Given the description of an element on the screen output the (x, y) to click on. 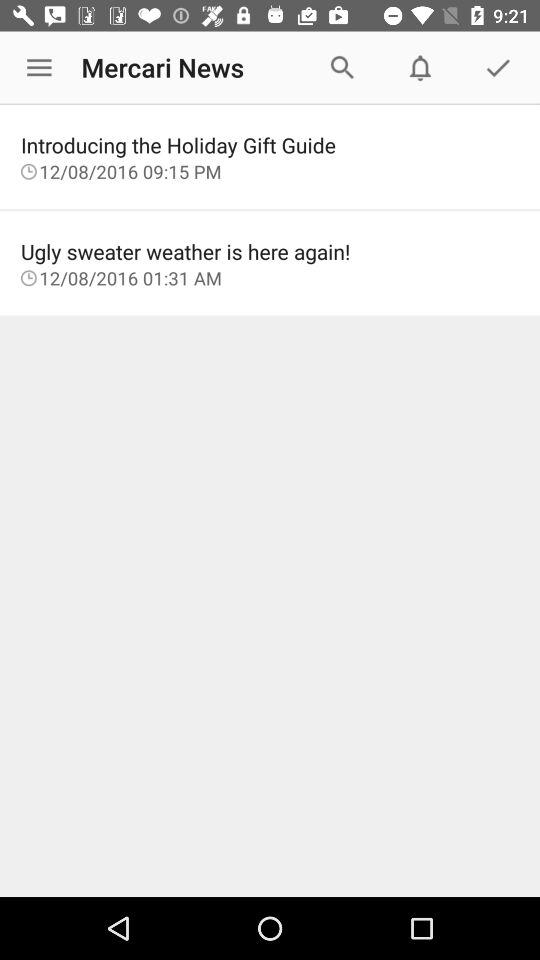
swipe until introducing the holiday icon (270, 144)
